Given the description of an element on the screen output the (x, y) to click on. 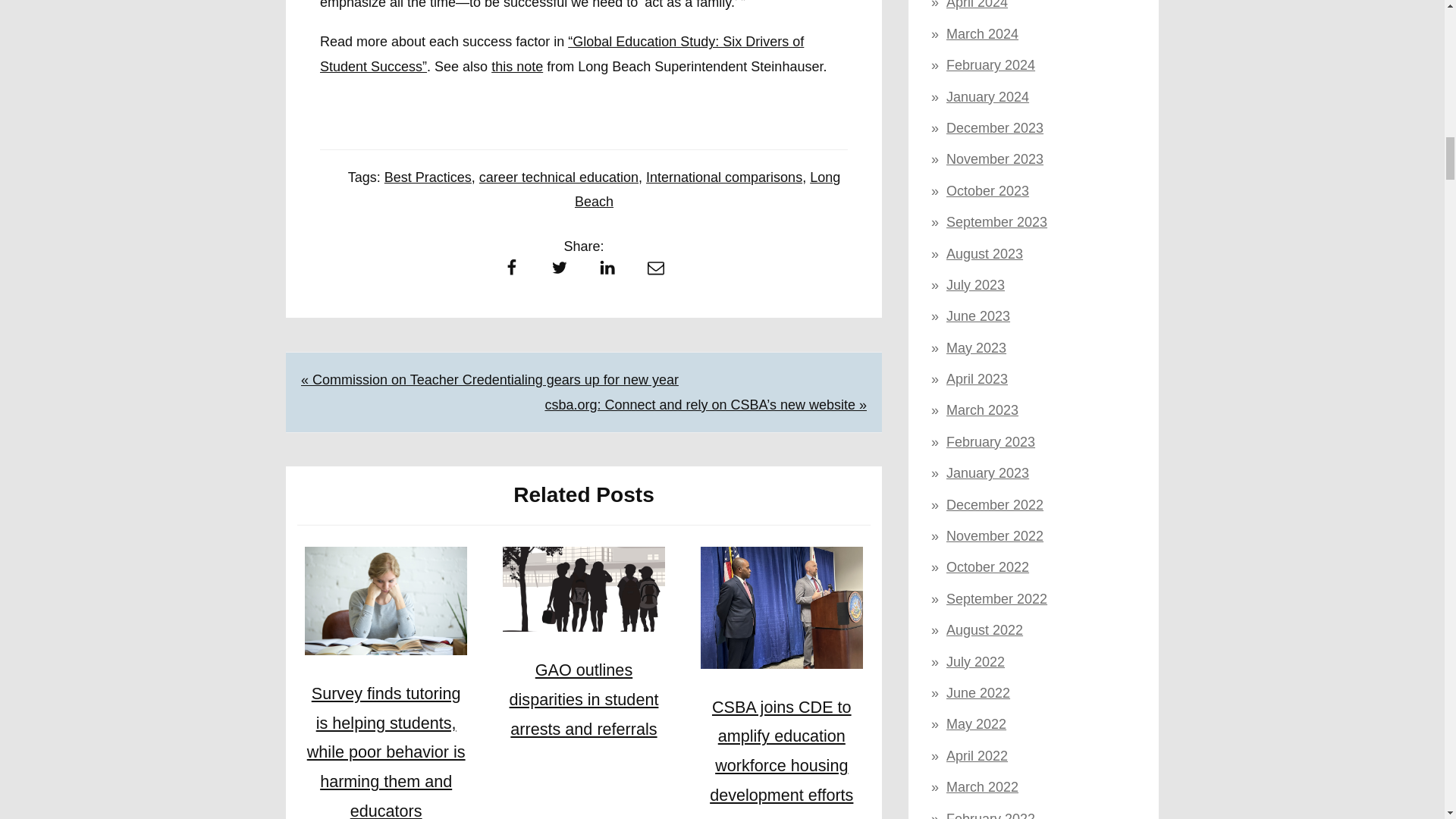
career technical education (559, 177)
this note (517, 66)
GAO outlines disparities in student arrests and referrals (584, 699)
Email (655, 271)
Long Beach (707, 189)
Twitter (558, 271)
Best Practices (427, 177)
International comparisons (724, 177)
